Given the description of an element on the screen output the (x, y) to click on. 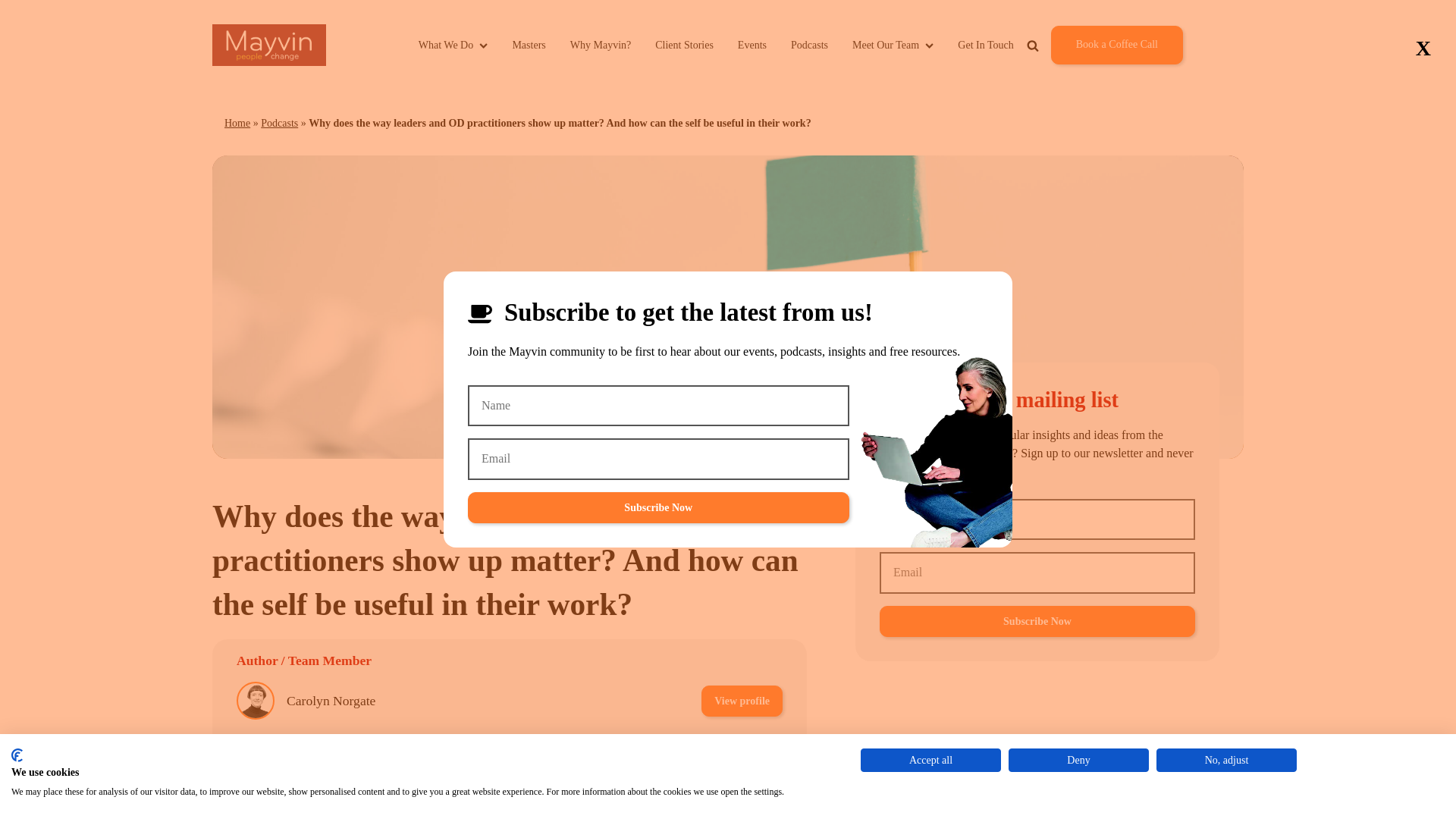
Martin Saville (324, 753)
Search (1078, 80)
Home (237, 122)
Why Mayvin? (600, 45)
Subscribe Now (657, 507)
Book a Coffee Call (1116, 44)
Masters (528, 45)
Events (752, 45)
View profile (742, 700)
Organisation Development (513, 805)
X (1423, 48)
Accept all (930, 760)
Client Stories (684, 45)
Subscribe Now (1037, 621)
Podcasts (809, 45)
